Given the description of an element on the screen output the (x, y) to click on. 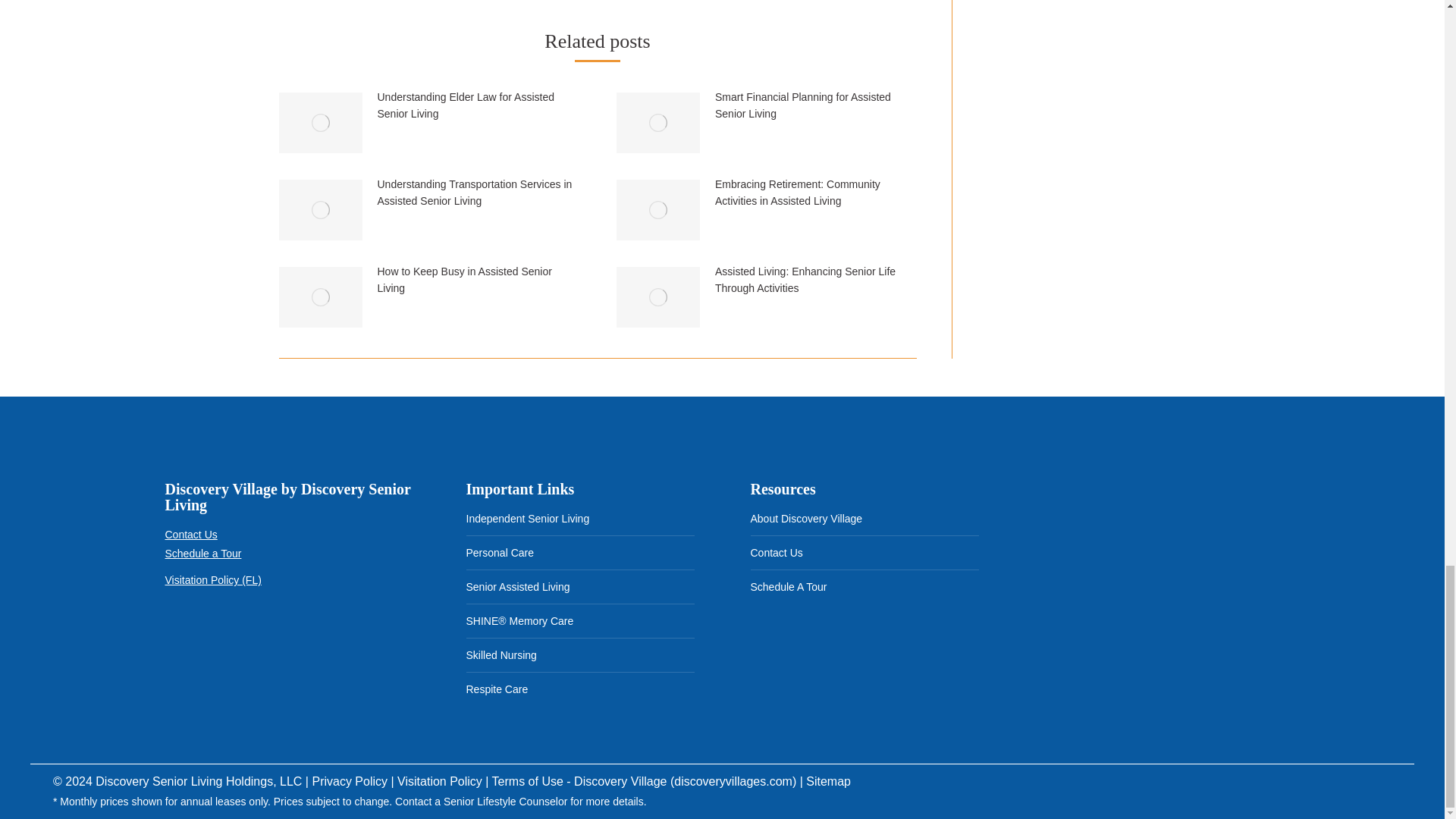
Equal-Housing-Opportunity-logo222 (189, 638)
Equal-Housing-Opportunity-logo22-150x144 (259, 639)
Discovery Map (1148, 567)
